Given the description of an element on the screen output the (x, y) to click on. 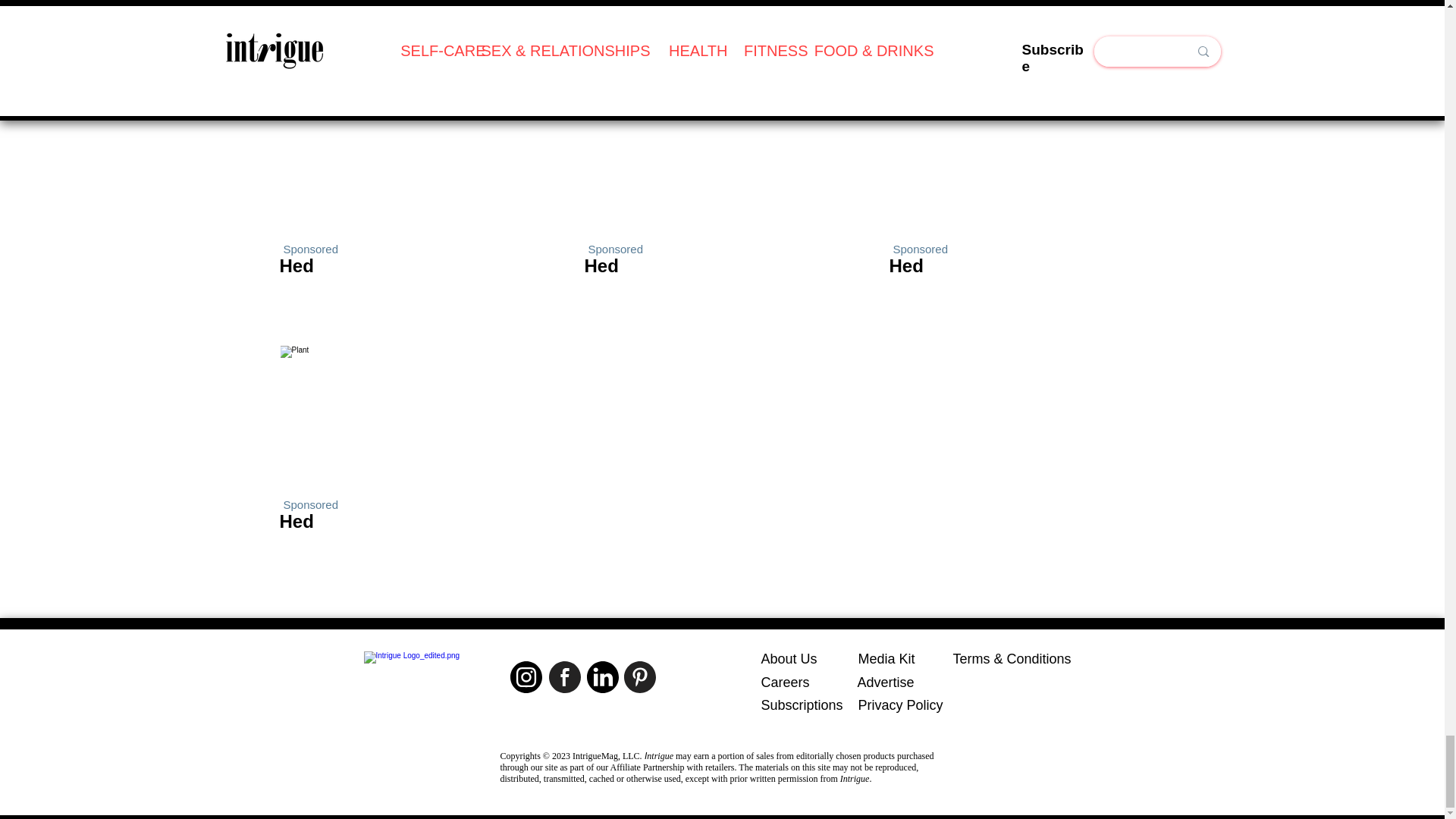
Subscriptions (802, 704)
About Us (788, 658)
Media Kit (887, 658)
Careers (785, 682)
